Given the description of an element on the screen output the (x, y) to click on. 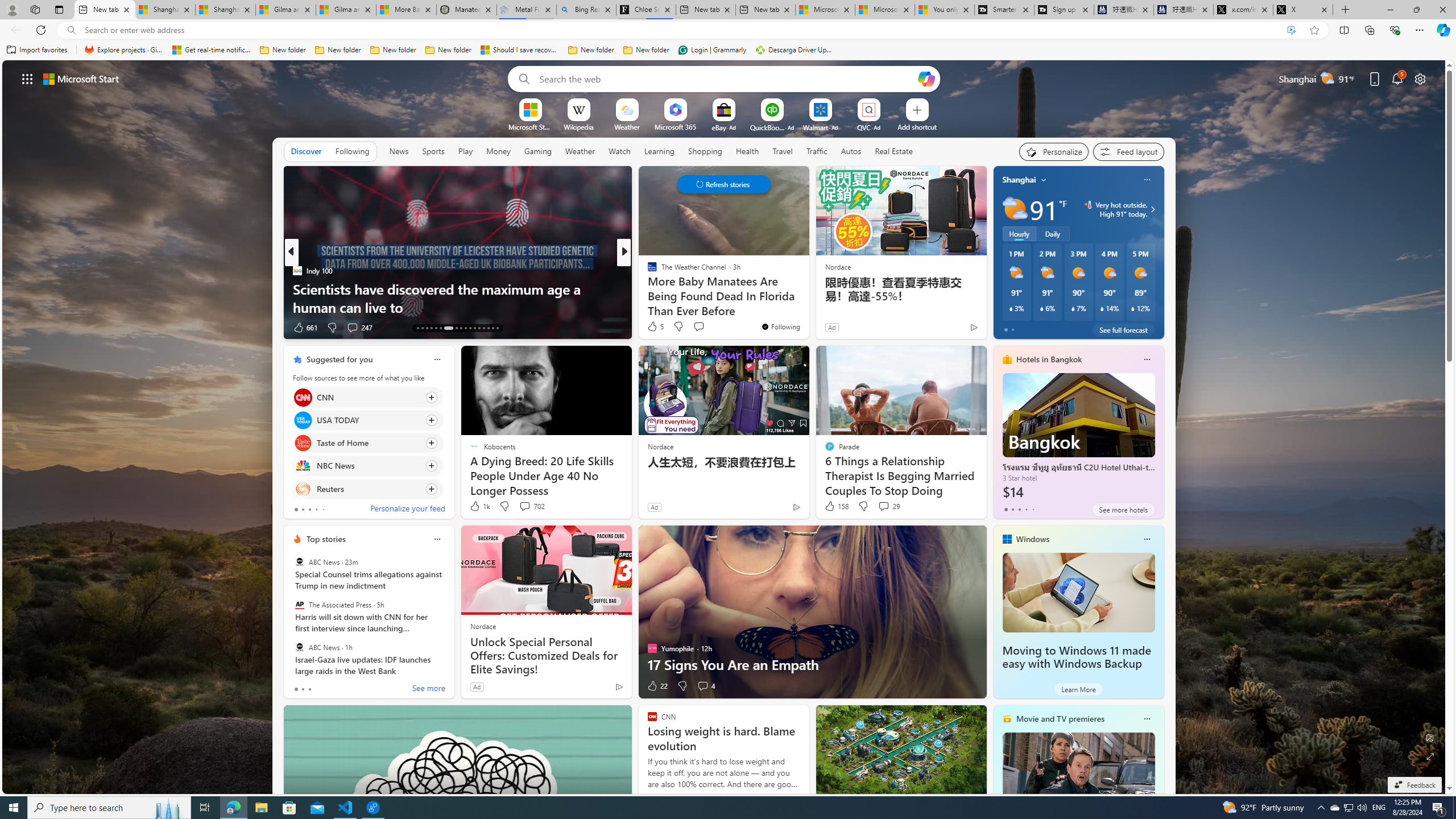
Manatee Mortality Statistics | FWC (466, 9)
View comments 7 Comment (698, 327)
Favorites bar (728, 49)
View comments 2 Comment (698, 327)
Suggested for you (338, 359)
AutomationID: tab-22 (465, 328)
Top stories (325, 538)
Feed settings (1128, 151)
